Given the description of an element on the screen output the (x, y) to click on. 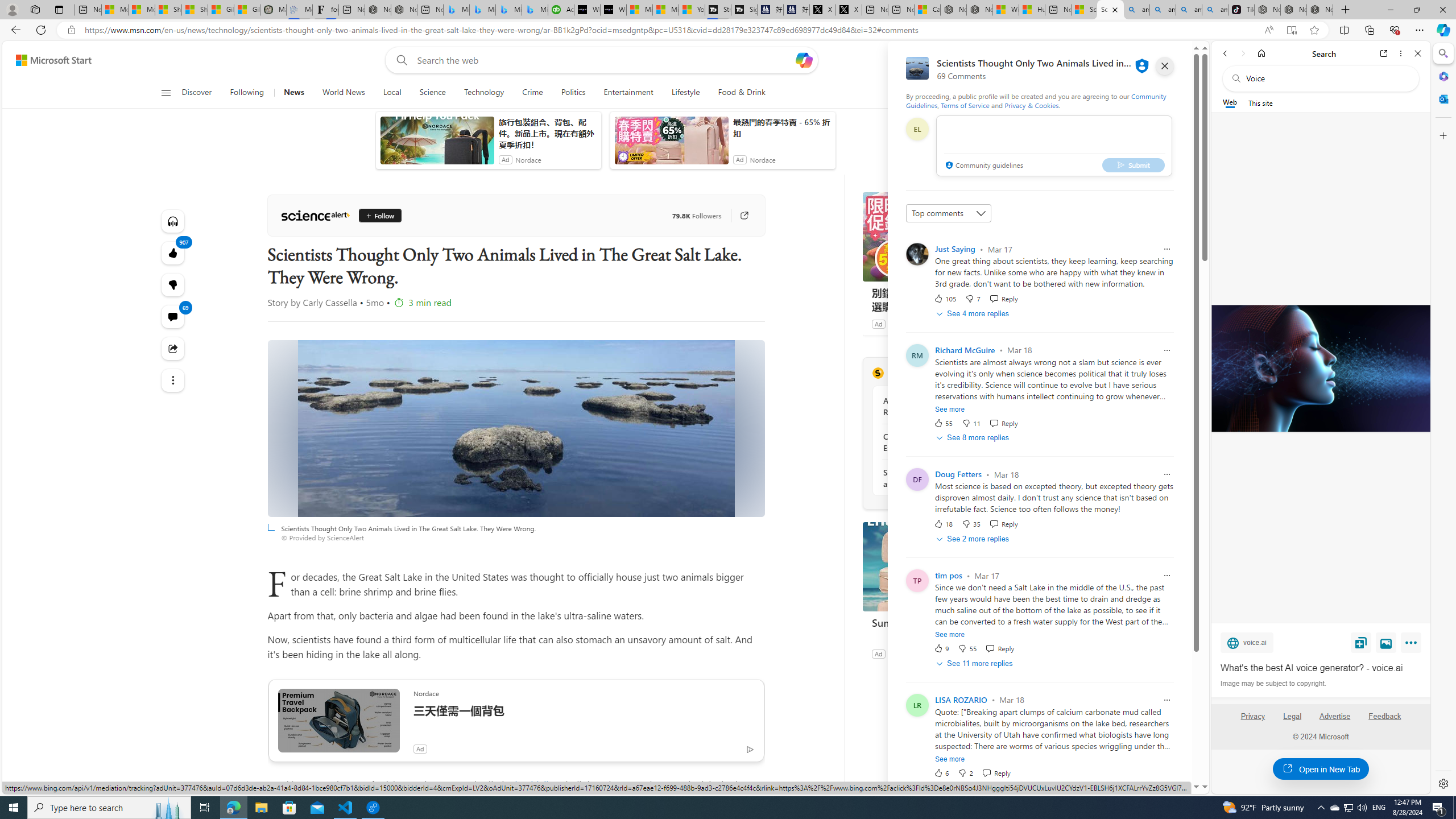
ScienceAlert (315, 215)
Microsoft rewards (1129, 60)
See 11 more replies (975, 663)
Local (391, 92)
Profile Picture (916, 704)
Just Saying (954, 248)
Science (432, 92)
Following (246, 92)
Accounting Software for Accountants, CPAs and Bookkeepers (561, 9)
Legal (1292, 720)
Open Copilot (803, 59)
Food & Drink (737, 92)
See more (172, 380)
